Given the description of an element on the screen output the (x, y) to click on. 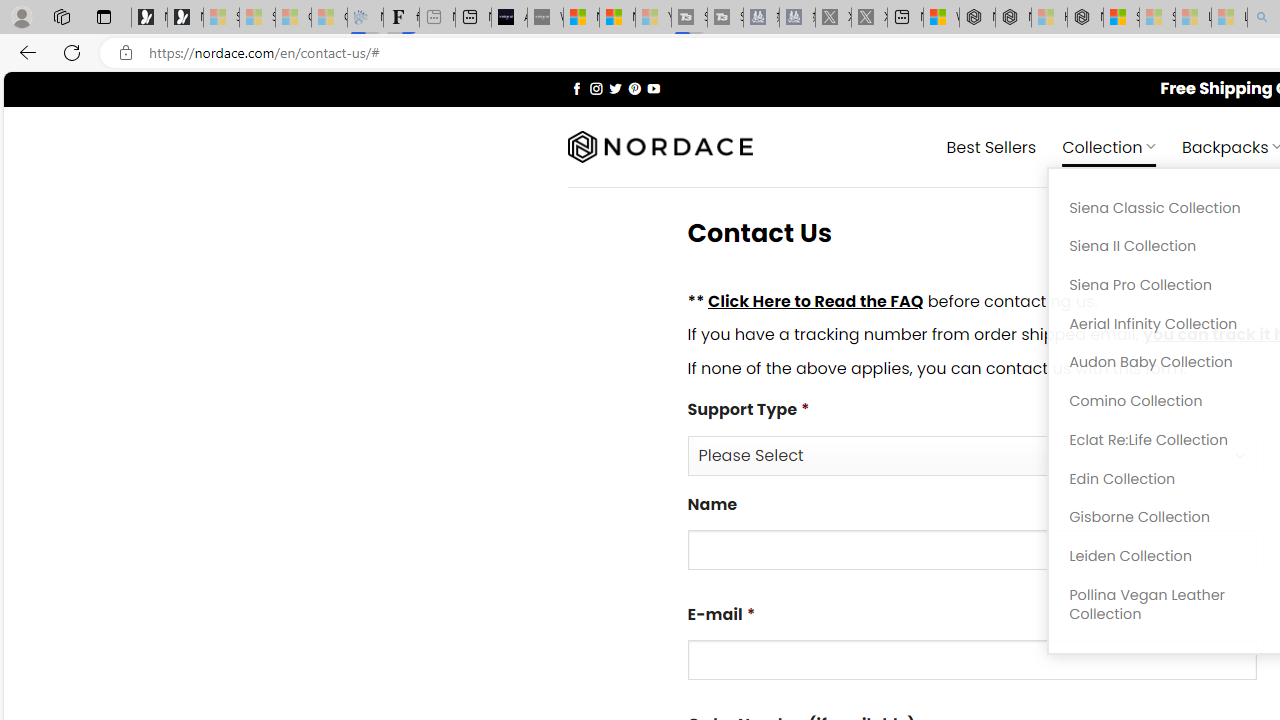
X - Sleeping (869, 17)
Support Type* (971, 454)
Follow on Instagram (596, 88)
E-mail* (971, 660)
Follow on Twitter (615, 88)
